Given the description of an element on the screen output the (x, y) to click on. 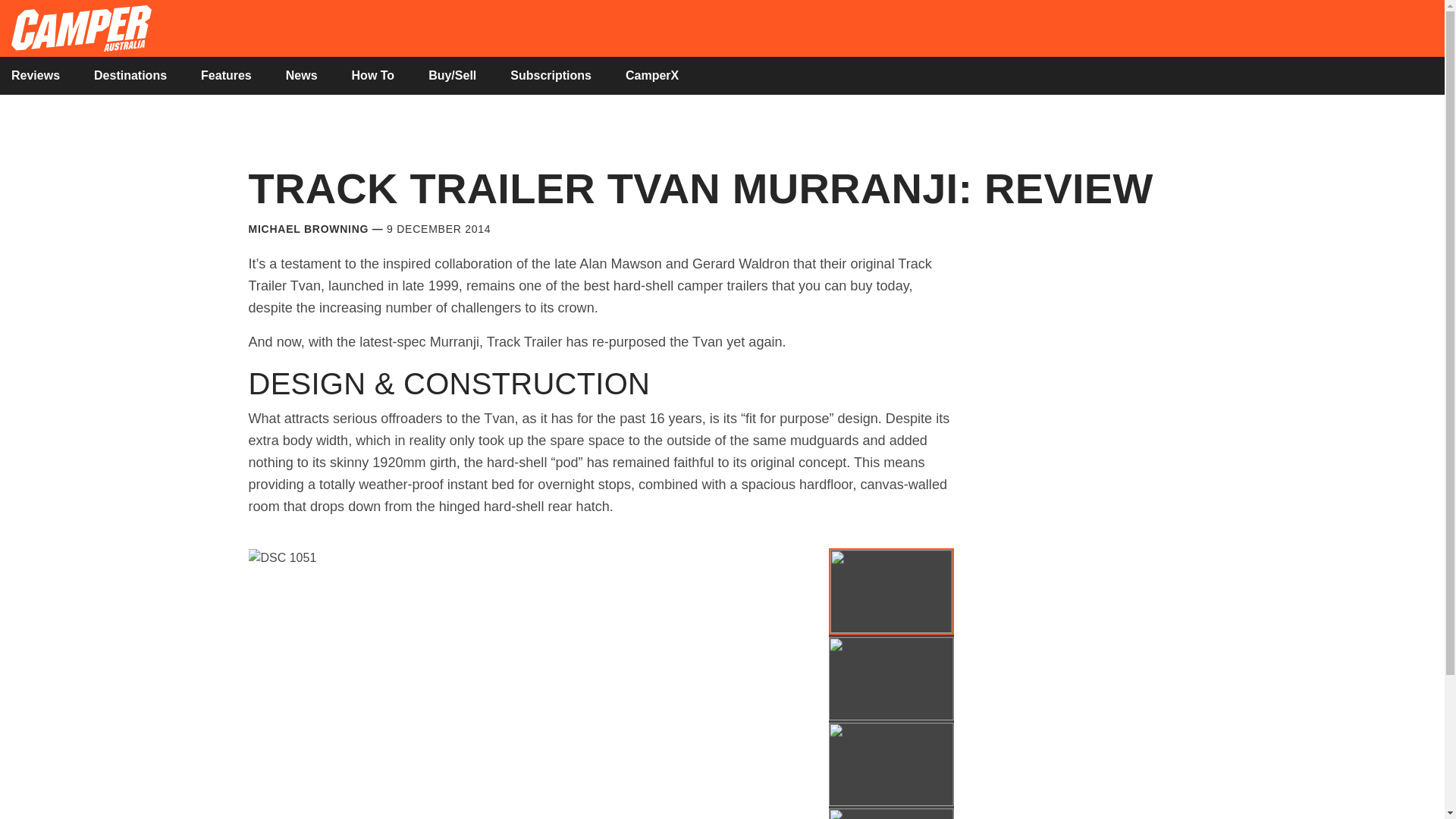
How To (373, 75)
Features (225, 75)
Subscriptions (551, 75)
CamperX (652, 75)
Destinations (130, 75)
News (301, 75)
Reviews (35, 75)
